Given the description of an element on the screen output the (x, y) to click on. 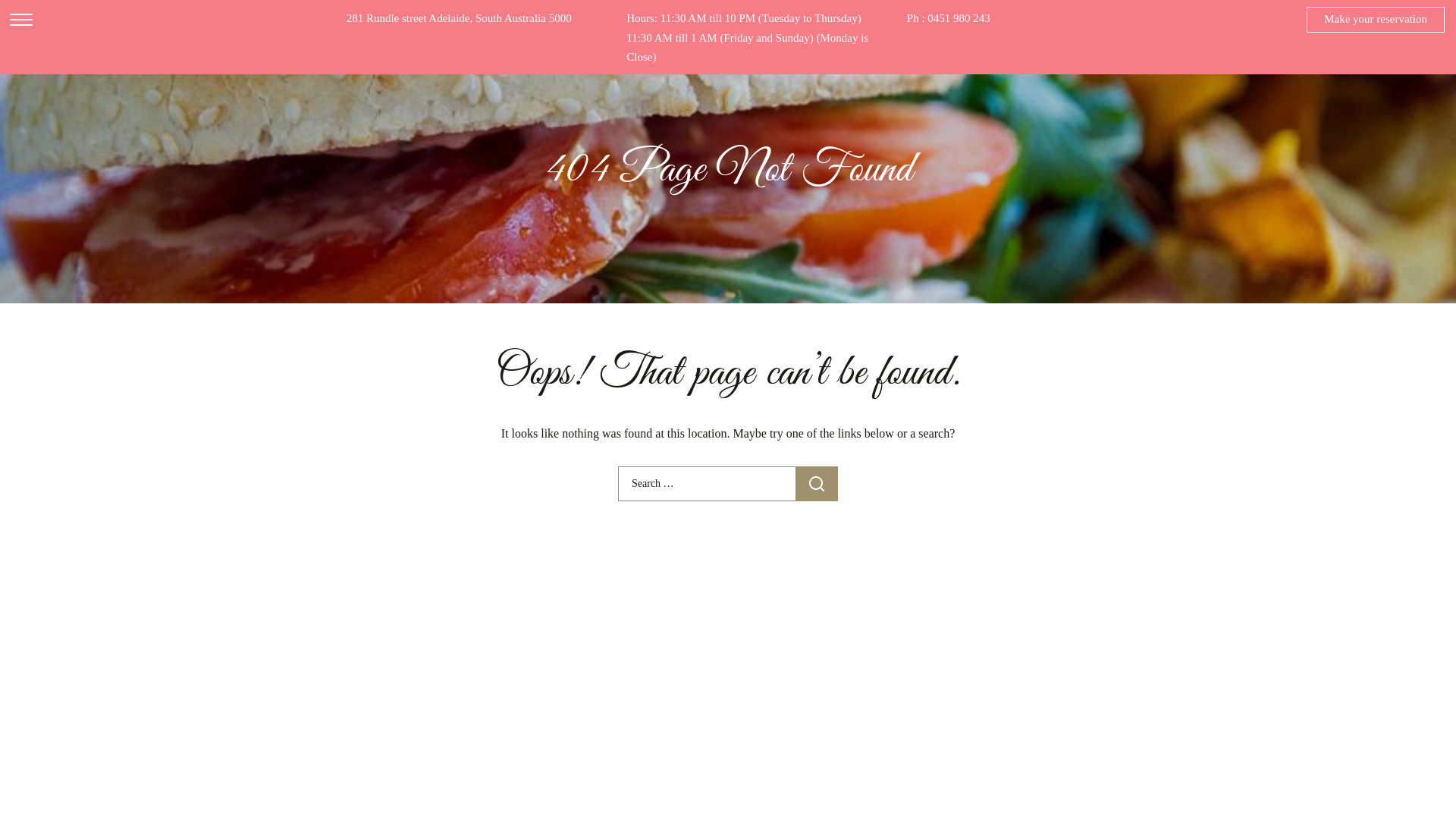
Make your reservation Element type: text (1375, 19)
Search Element type: text (816, 483)
CLICK TO TOGGLE NAVIGATION MENU. Element type: text (21, 20)
